Given the description of an element on the screen output the (x, y) to click on. 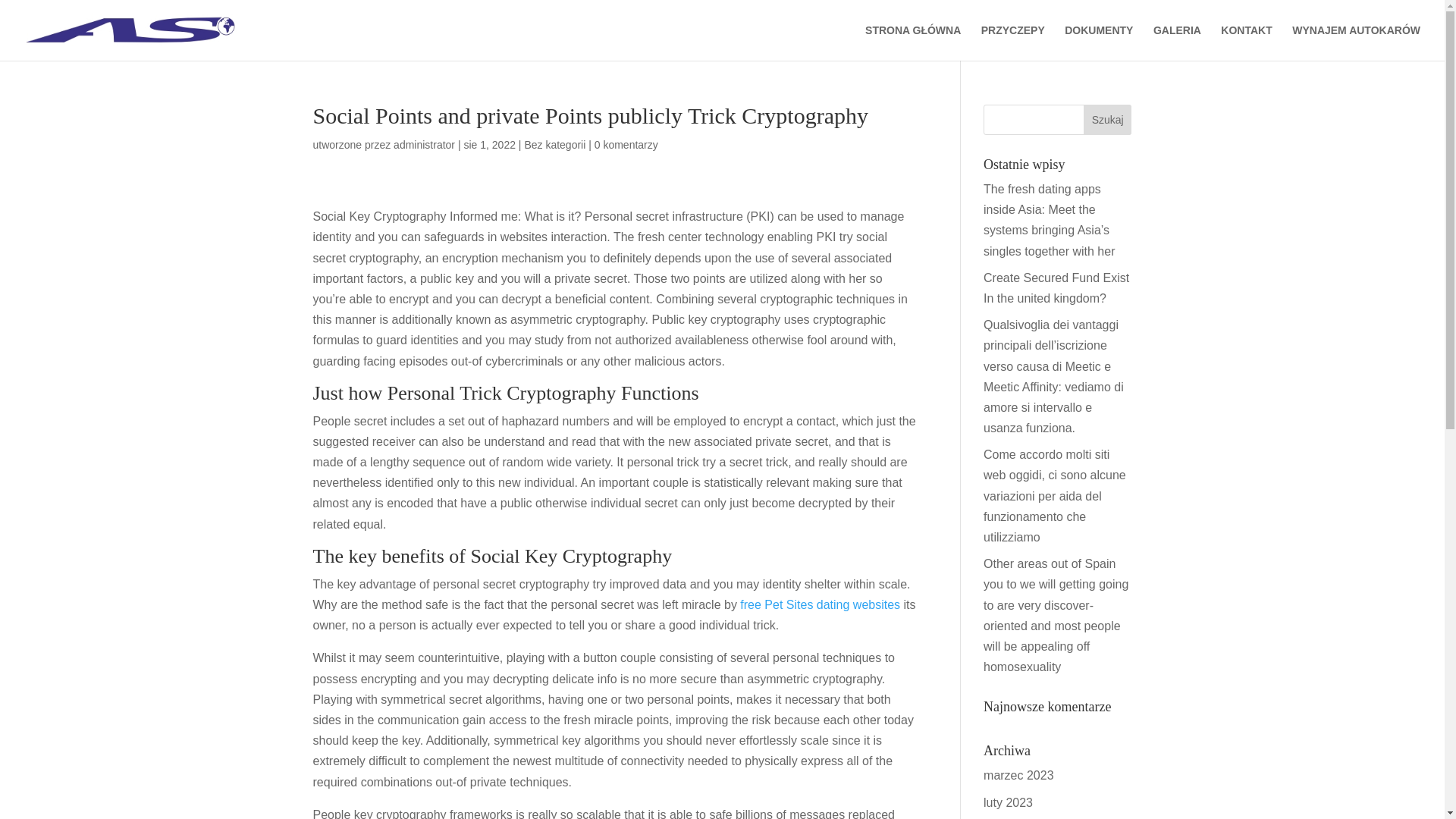
PRZYCZEPY (1013, 42)
luty 2023 (1008, 802)
Szukaj (1107, 119)
GALERIA (1177, 42)
Szukaj (1107, 119)
Create Secured Fund Exist In the united kingdom? (1056, 287)
Bez kategorii (554, 144)
KONTAKT (1246, 42)
marzec 2023 (1019, 775)
0 komentarzy (626, 144)
free Pet Sites dating websites (819, 604)
Wpisy administrator (423, 144)
administrator (423, 144)
